Given the description of an element on the screen output the (x, y) to click on. 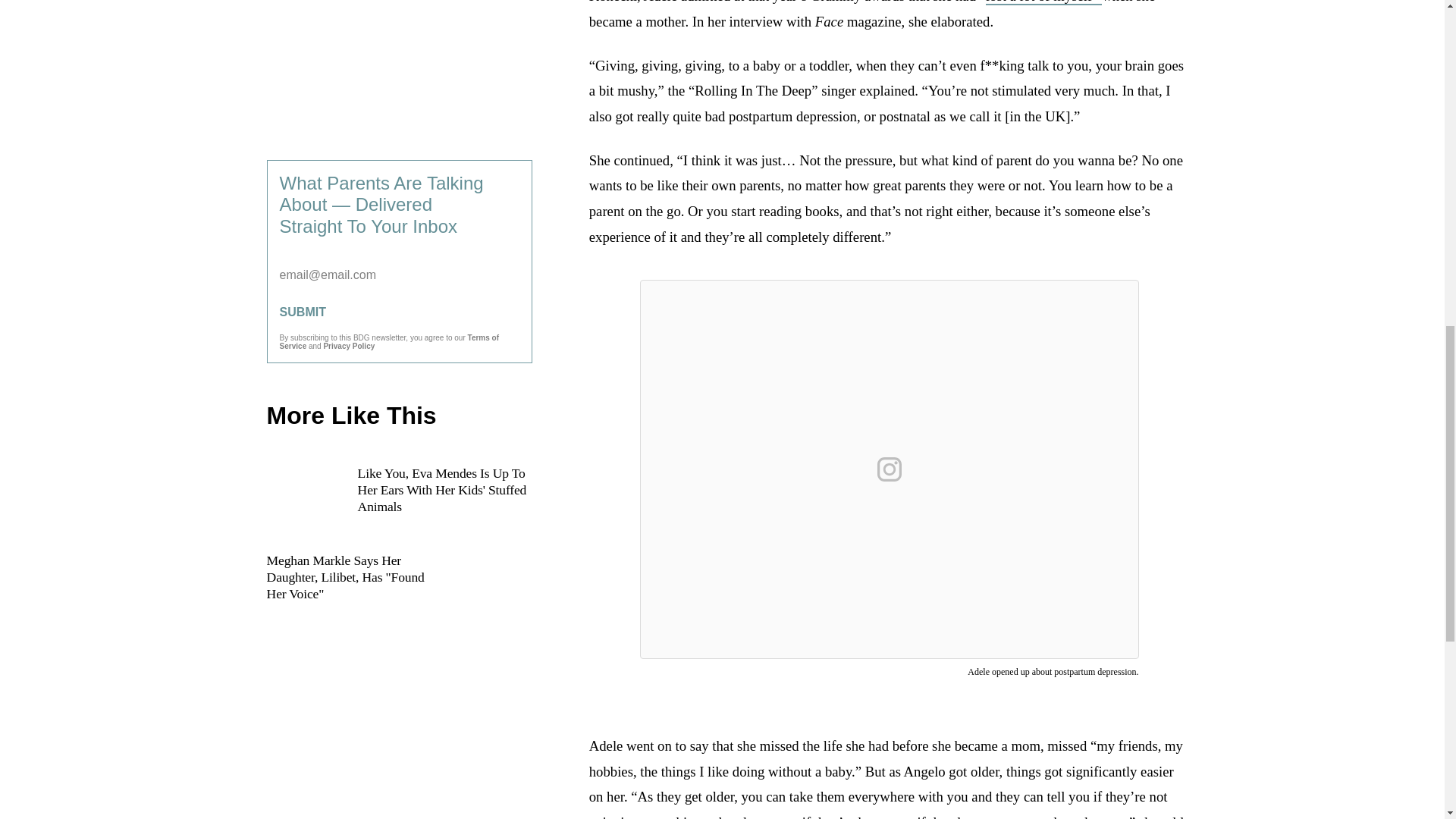
Terms of Service (389, 341)
Privacy Policy (348, 346)
SUBMIT (399, 312)
View on Instagram (888, 469)
